Given the description of an element on the screen output the (x, y) to click on. 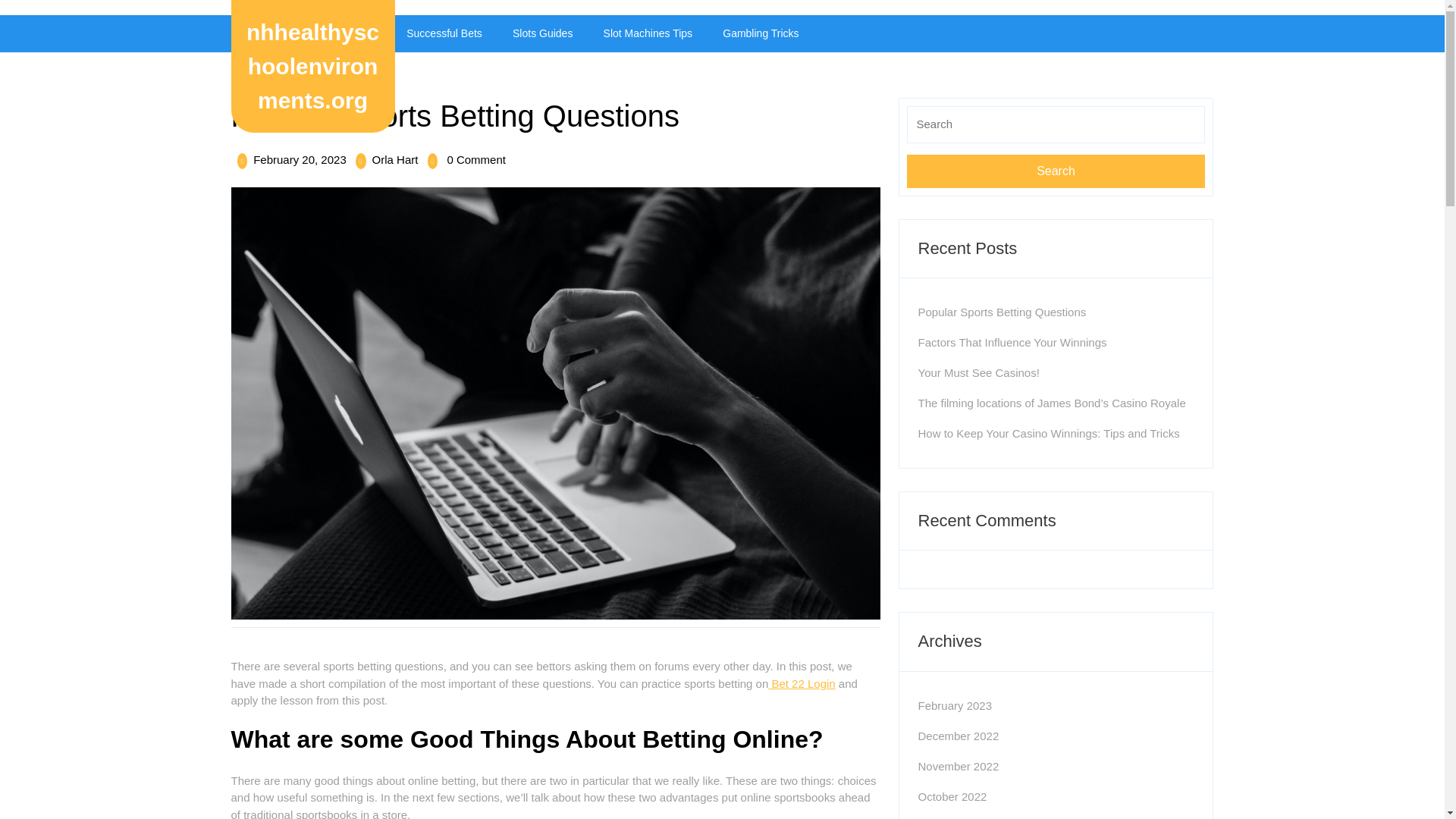
Popular Sports Betting Questions (1001, 311)
Bet 22 Login (801, 683)
Search (1056, 171)
Factors That Influence Your Winnings (1011, 341)
How to Keep Your Casino Winnings: Tips and Tricks (1048, 432)
February 2023 (954, 705)
November 2022 (299, 159)
December 2022 (957, 766)
Gambling Tricks (957, 735)
Your Must See Casinos! (760, 33)
Slots Guides (978, 372)
Slot Machines Tips (542, 33)
Search (647, 33)
Successful Bets (1056, 171)
